Given the description of an element on the screen output the (x, y) to click on. 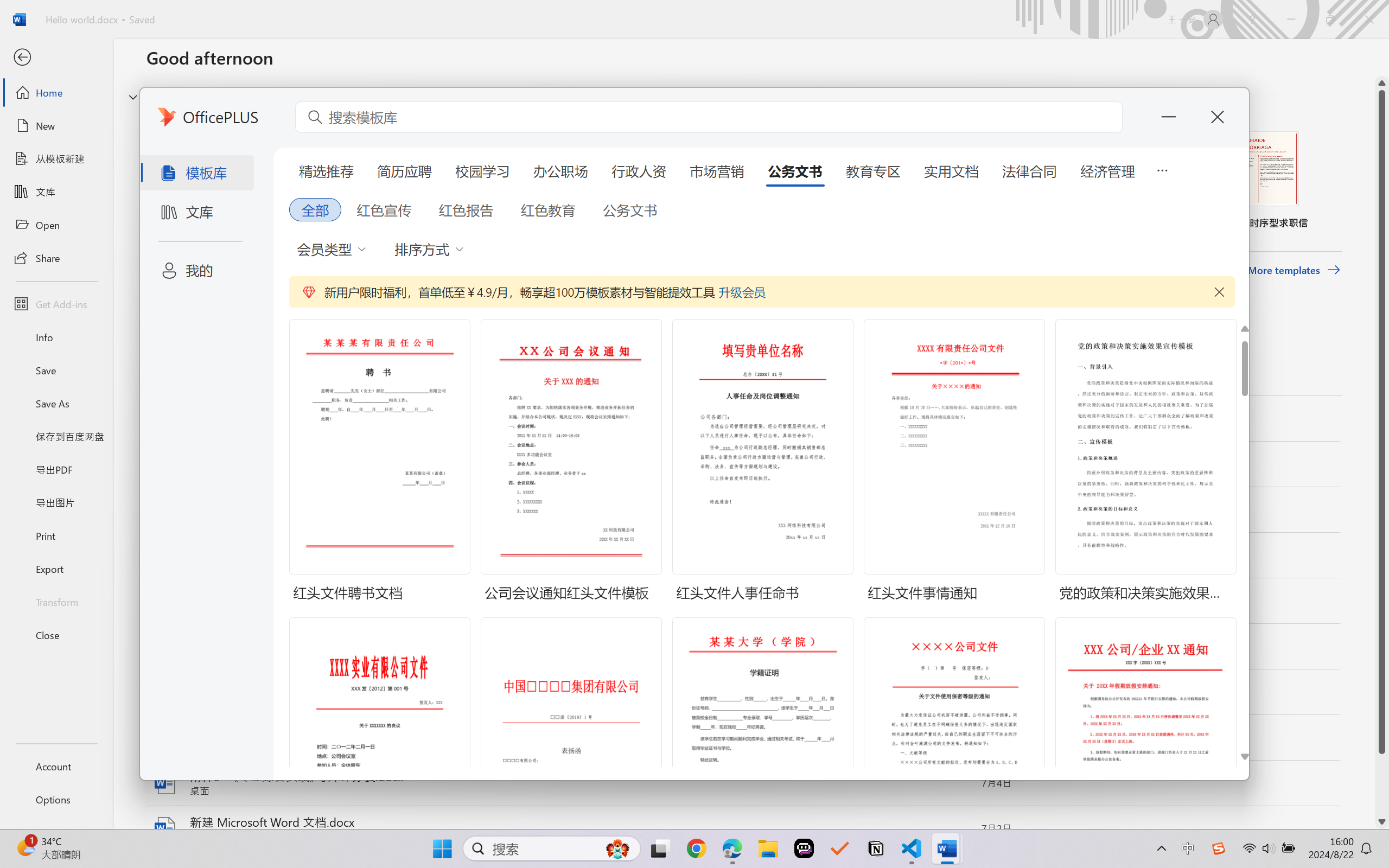
Poe (804, 848)
SJTUvpn (93, 269)
Xftp 7 (93, 430)
2304.09121v3.pdf (1216, 28)
edit (1340, 510)
